Given the description of an element on the screen output the (x, y) to click on. 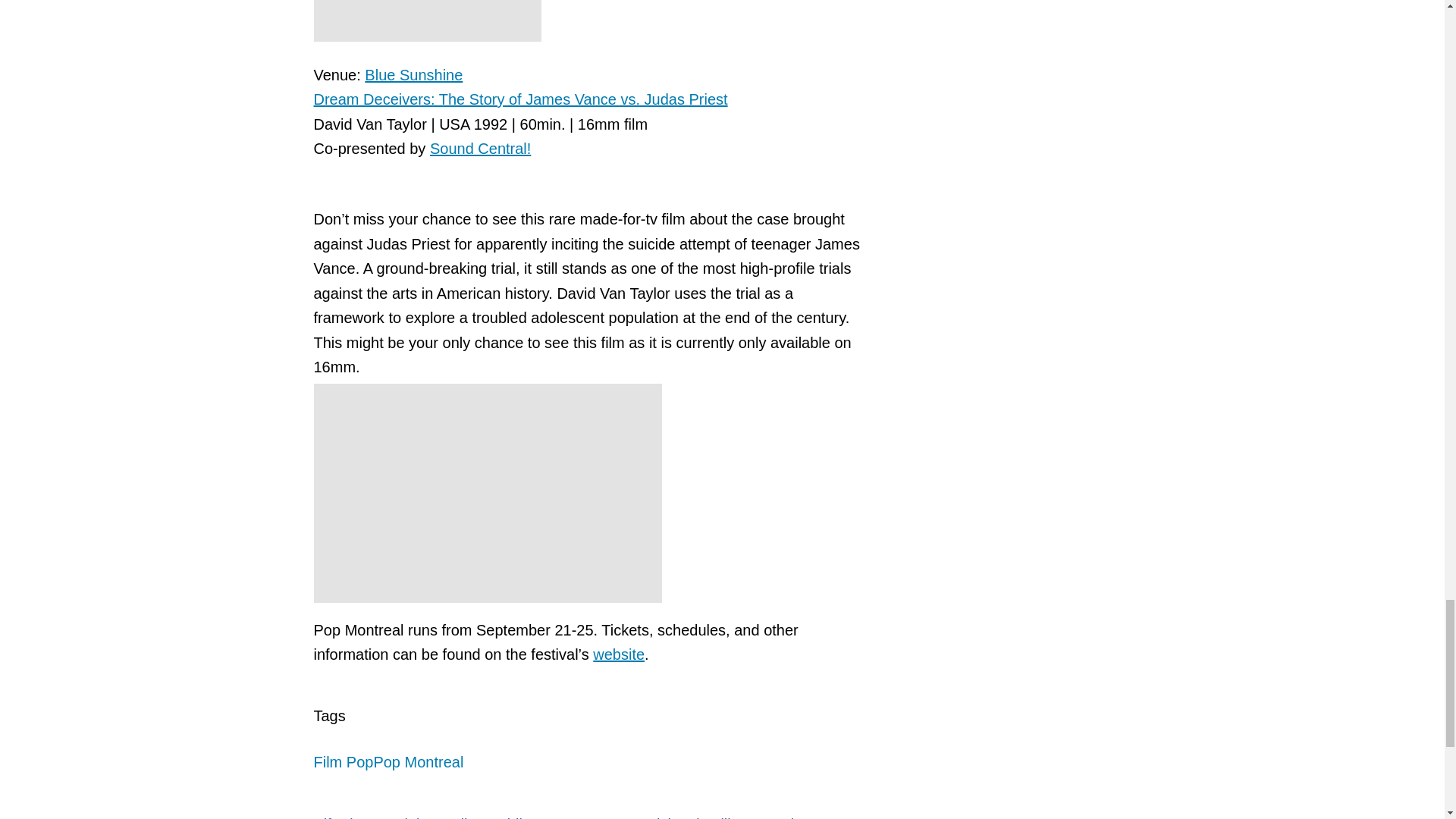
website (618, 654)
Sound Central! (480, 148)
deceiversscreen1vy9 (427, 20)
Dream Deceivers: The Story of James Vance vs. Judas Priest (521, 98)
Pop Montreal (417, 761)
Blue Sunshine (414, 74)
Film Pop (344, 761)
